Given the description of an element on the screen output the (x, y) to click on. 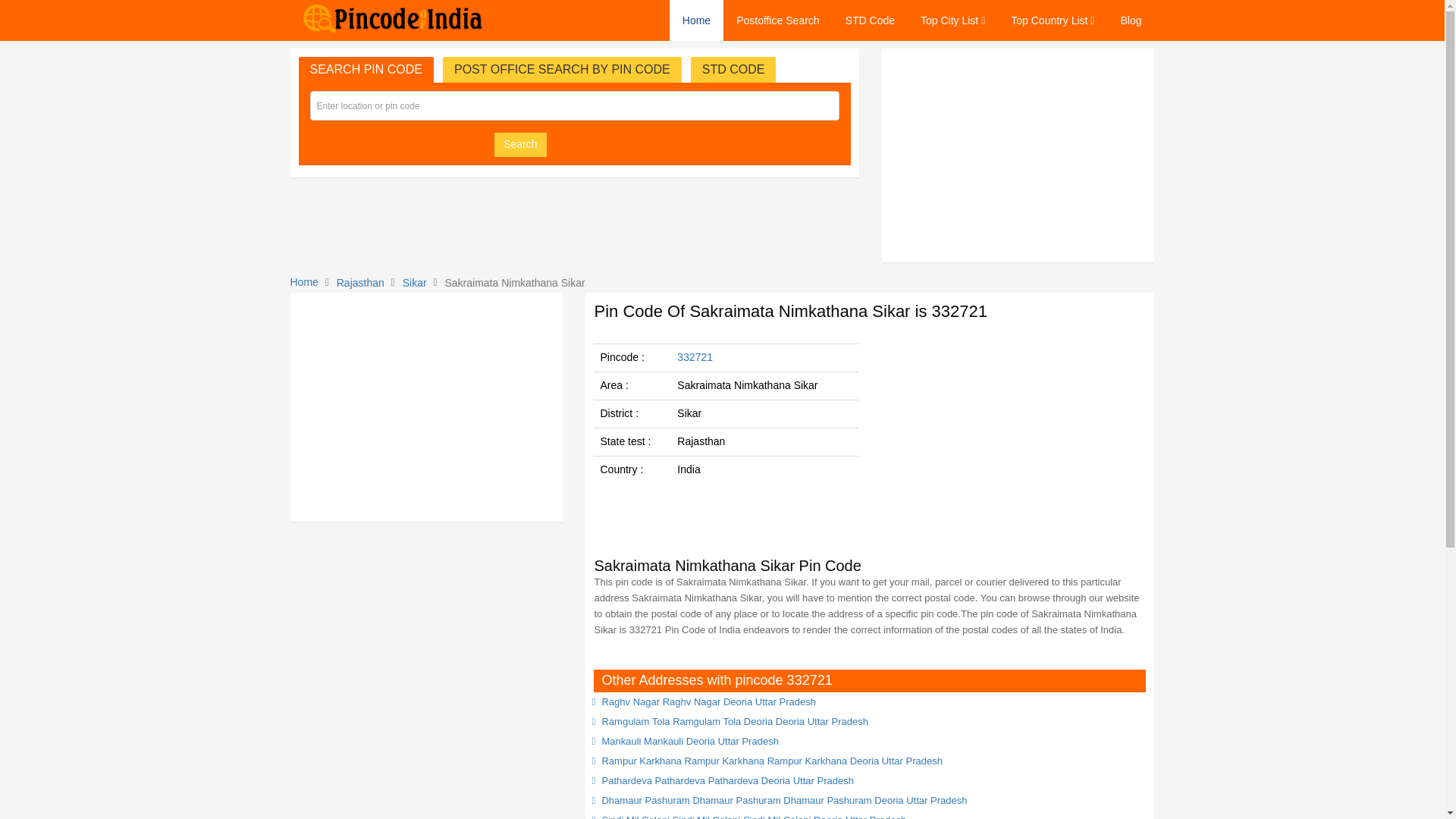
SEARCH PIN CODE (365, 69)
Top Country List (1051, 20)
Postoffice Search (777, 20)
Top City List (952, 20)
Blog (1130, 20)
Search (520, 144)
Home (696, 20)
STD Code (869, 20)
Search (520, 144)
